Given the description of an element on the screen output the (x, y) to click on. 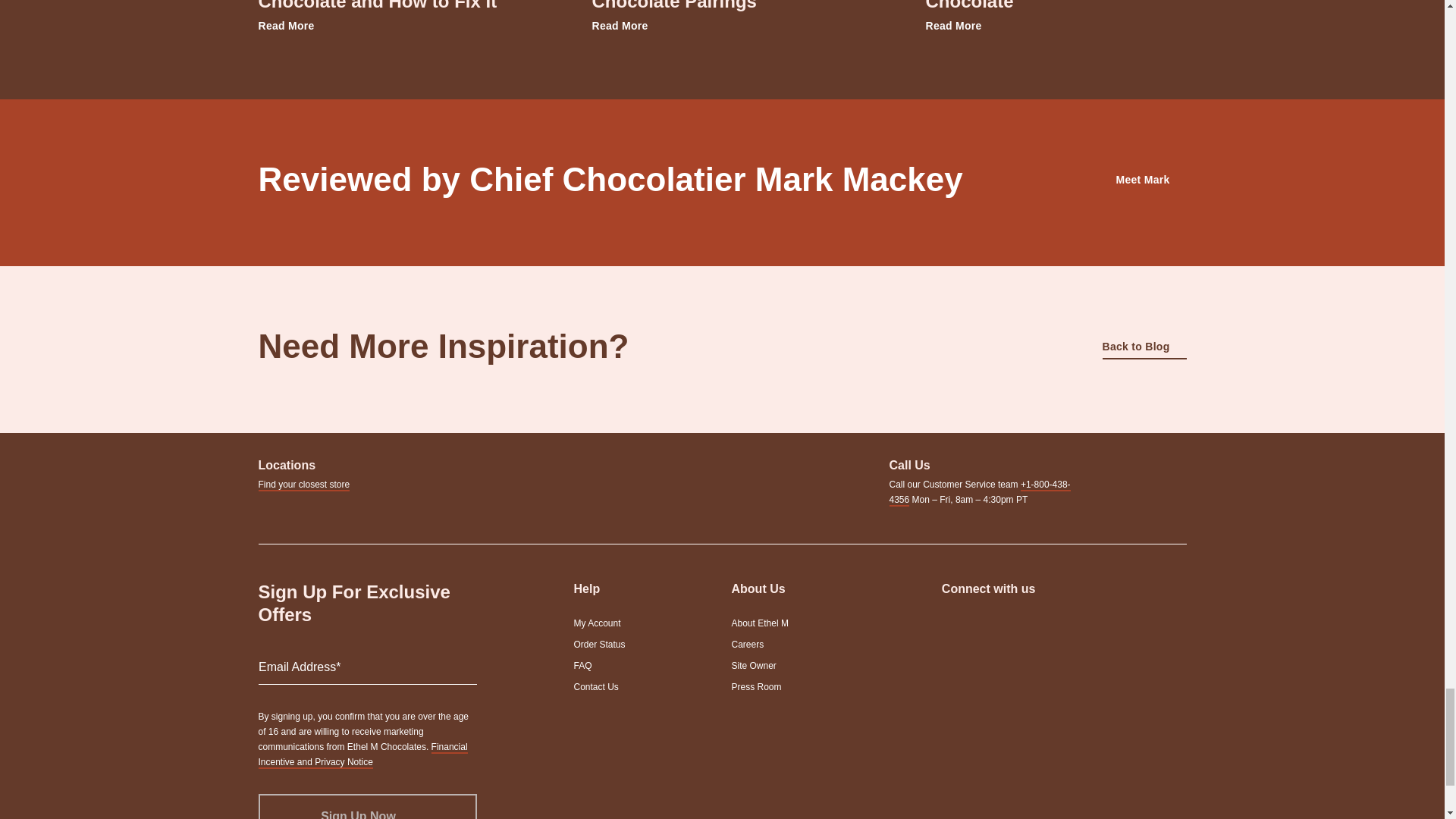
Instagram (951, 624)
YouTube (1017, 624)
Pinterest (1050, 624)
Facebook (983, 624)
